Given the description of an element on the screen output the (x, y) to click on. 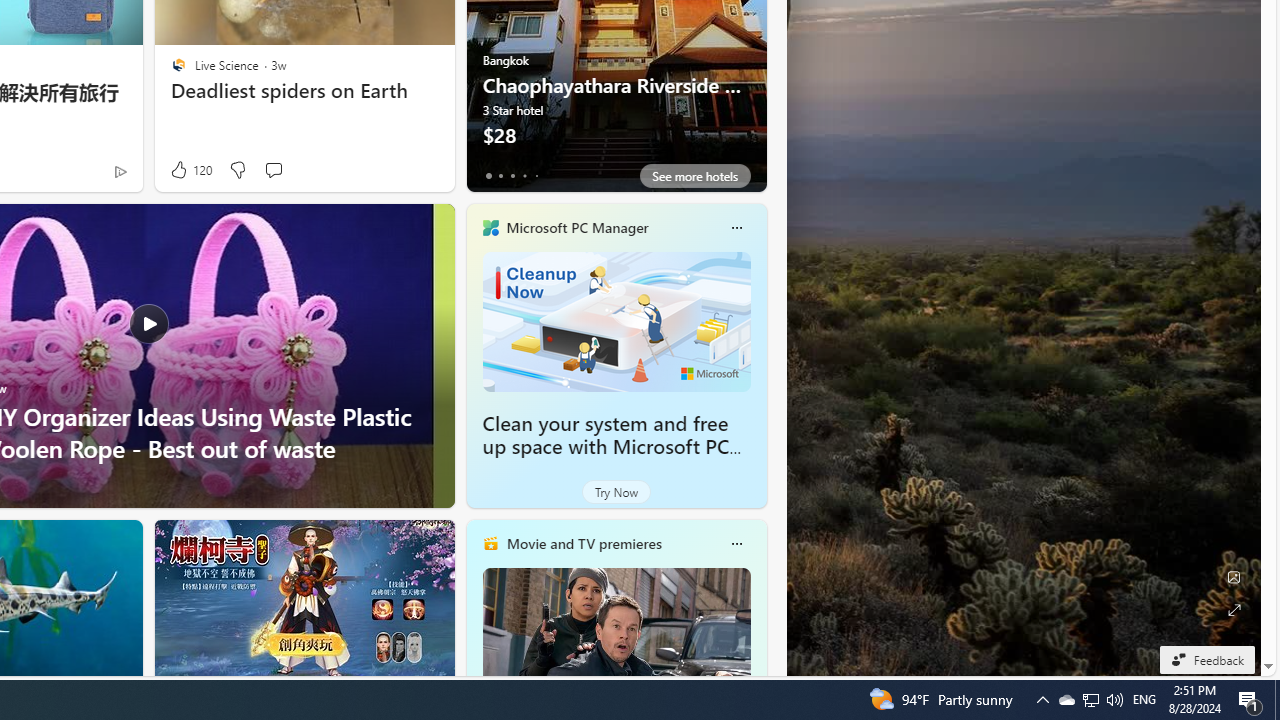
tab-1 (500, 175)
Start the conversation (272, 170)
Movie and TV premieres (583, 543)
tab-0 (488, 175)
Feedback (1206, 659)
Class: icon-img (736, 543)
Expand background (1233, 610)
